Given the description of an element on the screen output the (x, y) to click on. 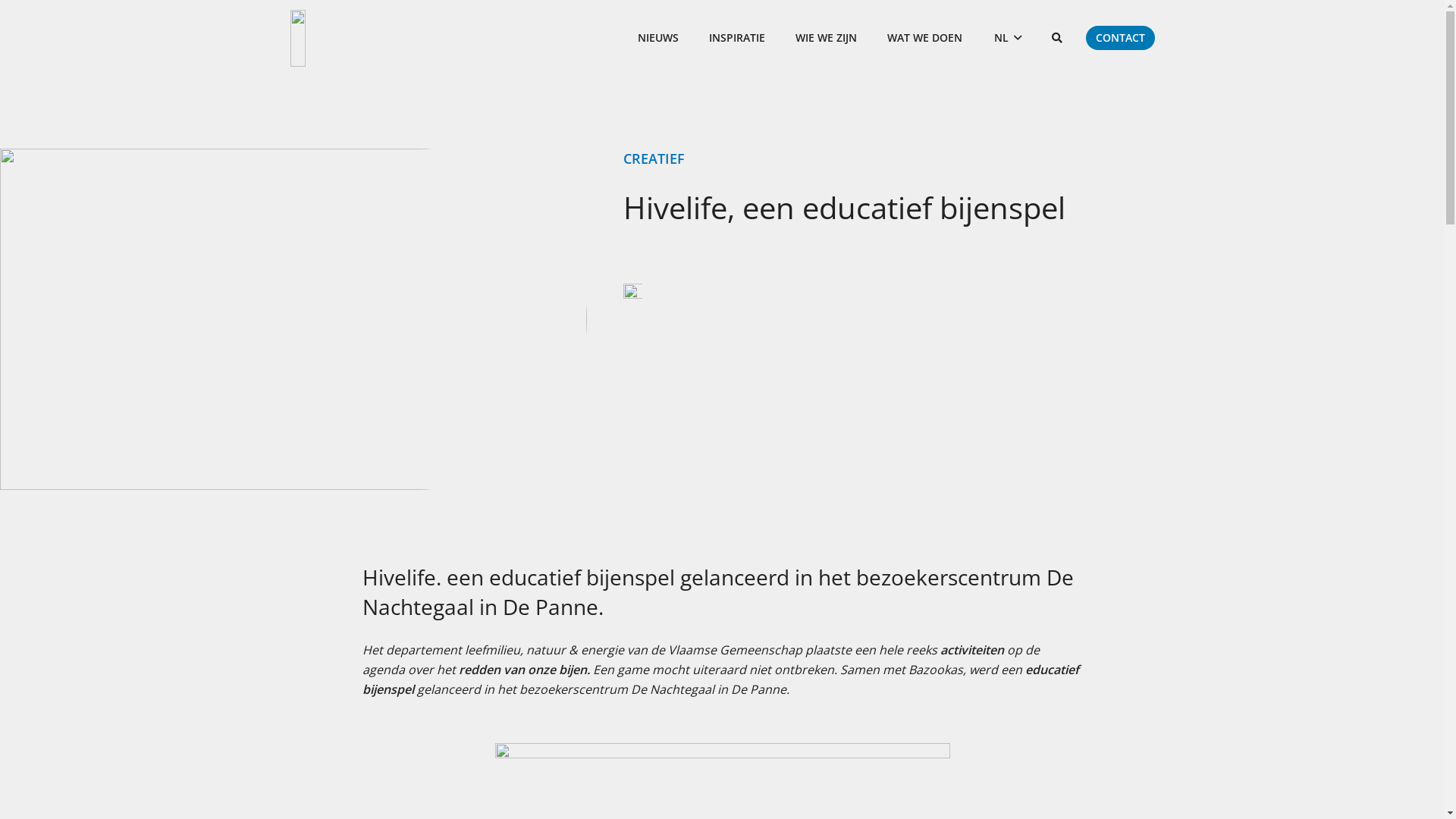
NIEUWS Element type: text (657, 37)
WIE WE ZIJN Element type: text (826, 37)
NL Element type: text (1007, 37)
WAT WE DOEN Element type: text (924, 37)
INSPIRATIE Element type: text (736, 37)
CONTACT Element type: text (1119, 37)
